Given the description of an element on the screen output the (x, y) to click on. 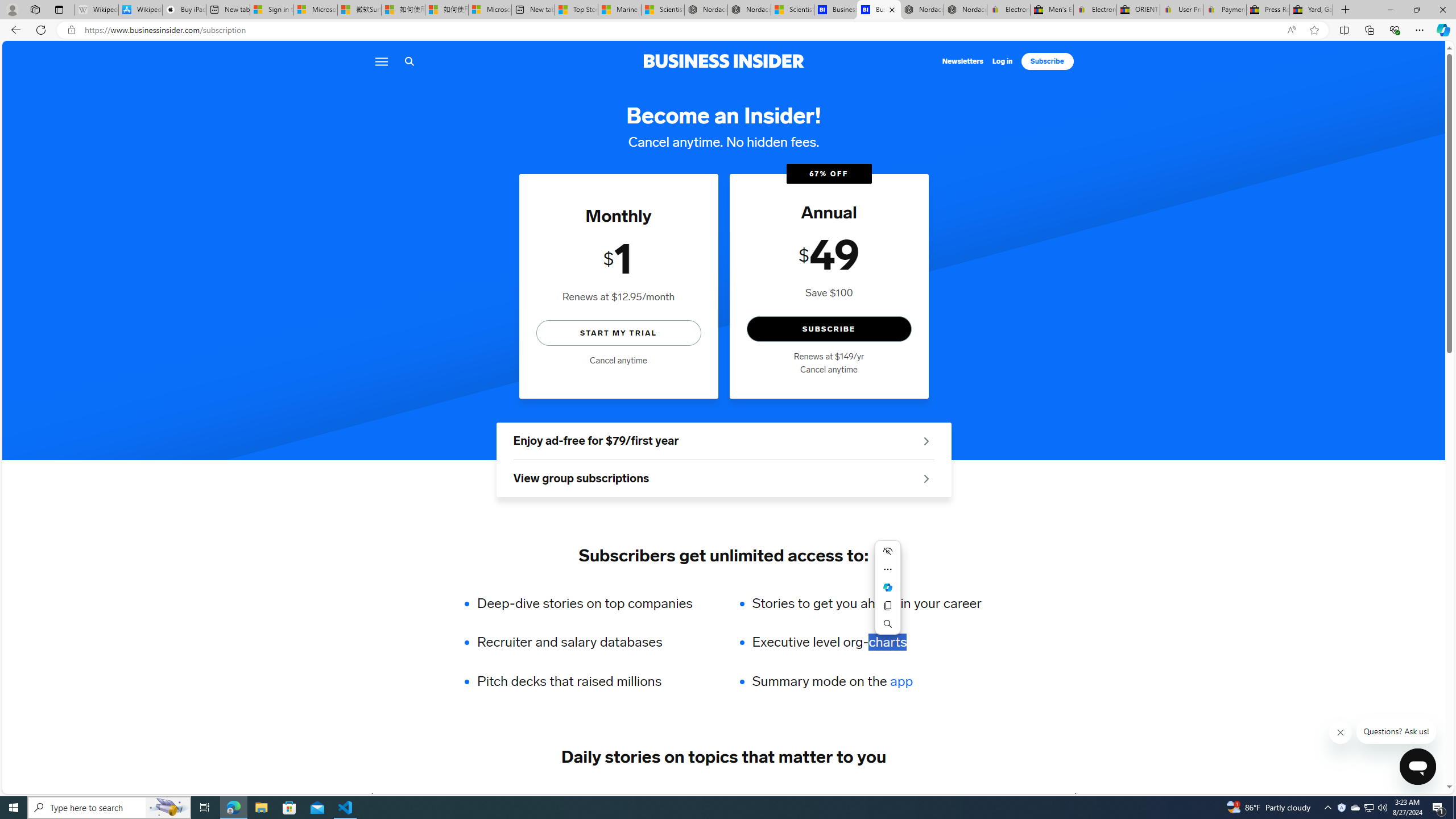
Open messaging window (1417, 766)
View group subscriptions See group offers (723, 478)
Go to the search page. (408, 61)
Recruiter and salary databases (592, 642)
Executive level org-charts (866, 642)
PERSONAL FINANCE (700, 796)
Questions? Ask us! (1396, 731)
Buy iPad - Apple (184, 9)
